Given the description of an element on the screen output the (x, y) to click on. 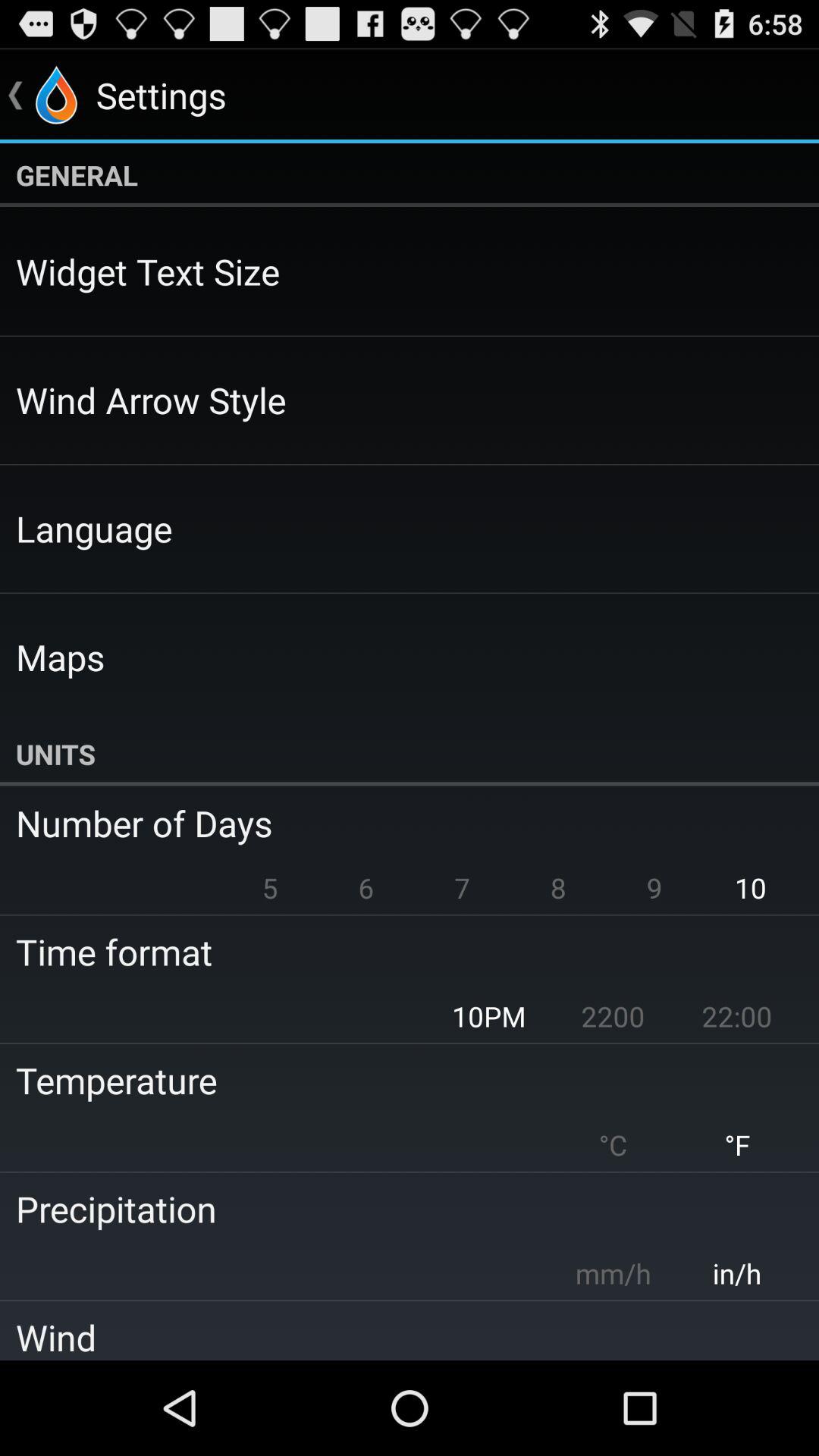
press the item below the number of days item (462, 887)
